Given the description of an element on the screen output the (x, y) to click on. 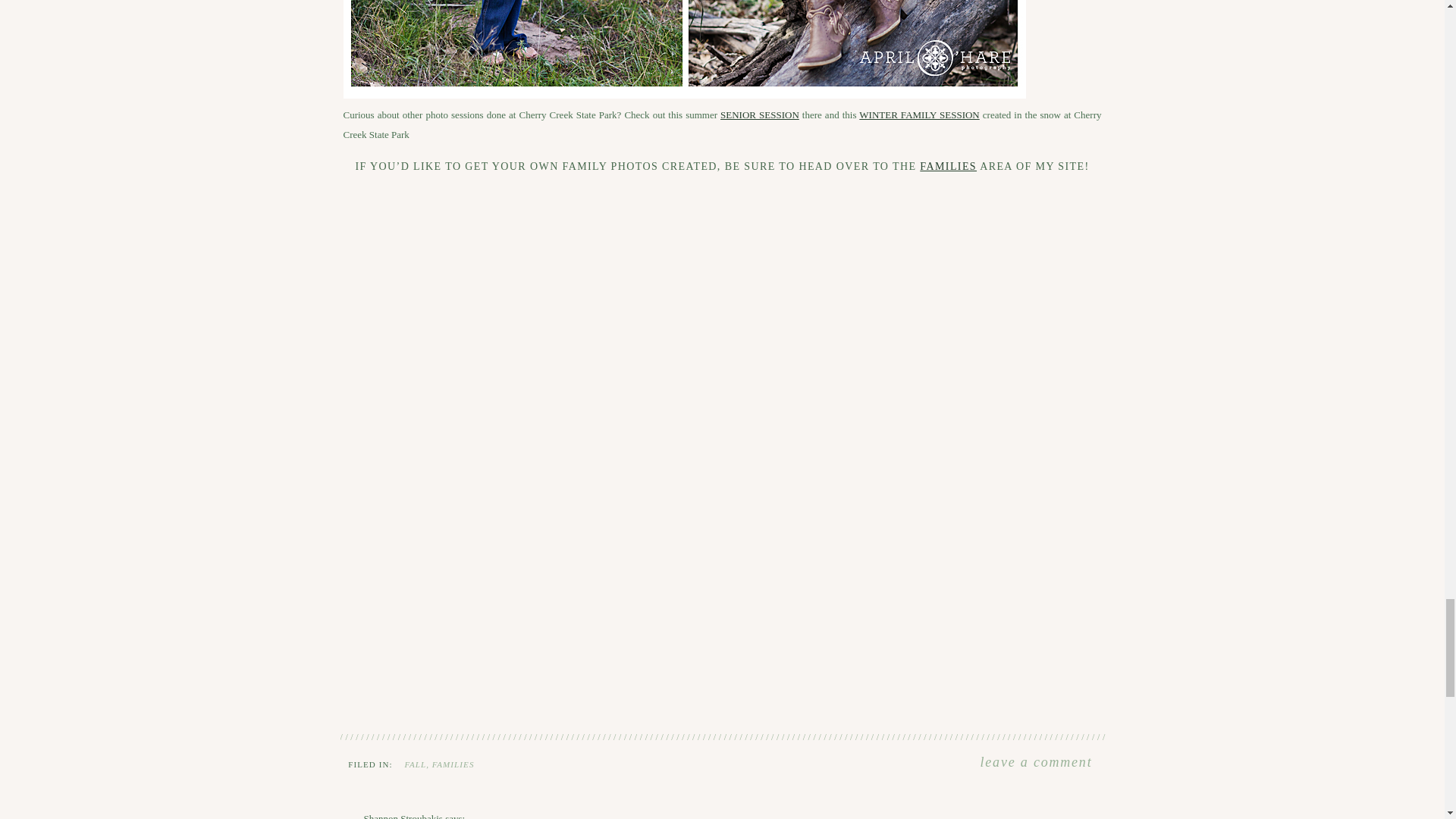
FAMILIES (453, 764)
WINTER FAMILY SESSION (918, 114)
FALL (415, 764)
SENIOR SESSION (759, 114)
leave a comment (1036, 763)
Shannon Stroubakis (403, 816)
FAMILIES (948, 165)
